Given the description of an element on the screen output the (x, y) to click on. 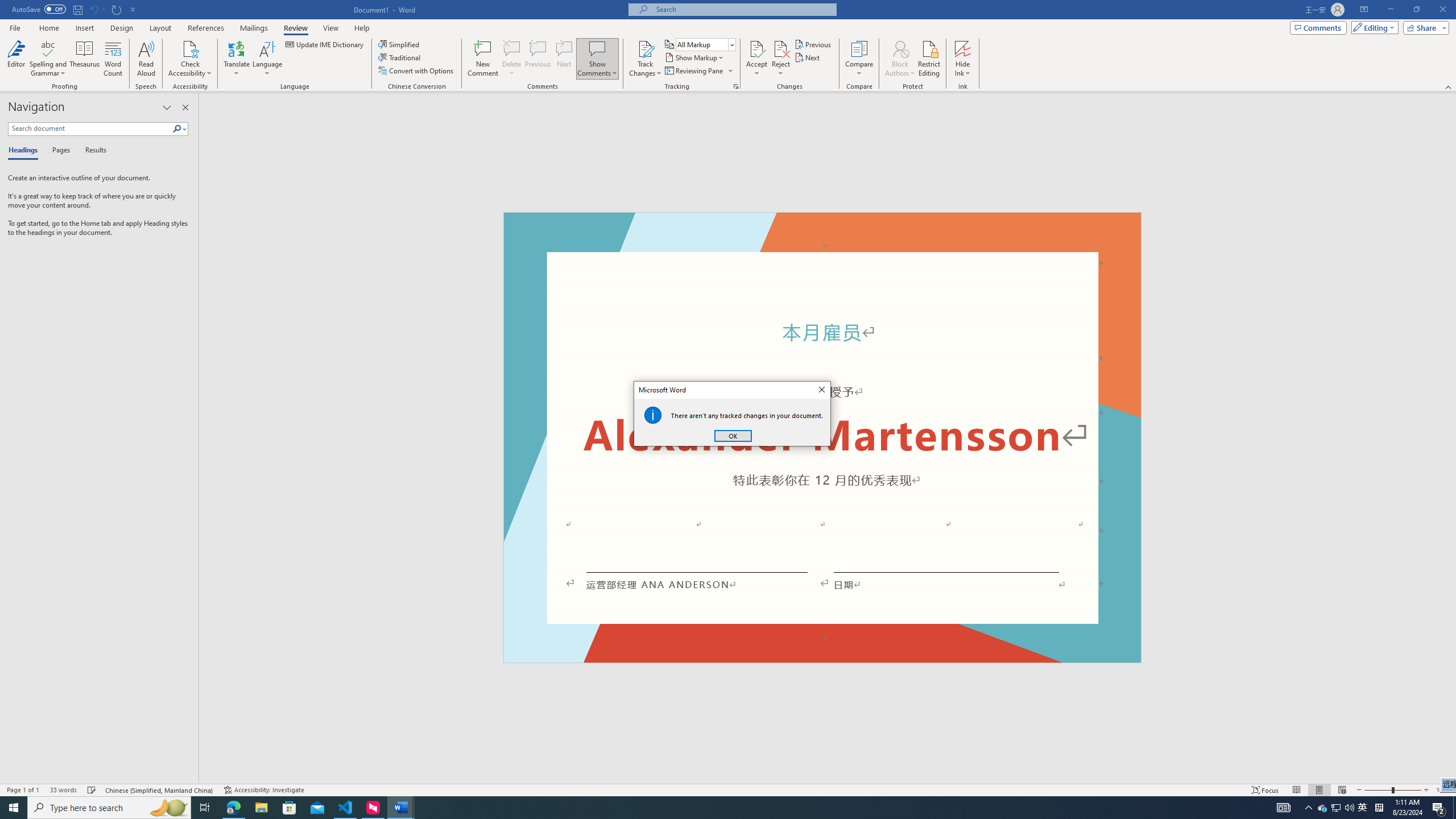
Task View (204, 807)
Zoom In (1426, 790)
Design (122, 28)
Search document (1335, 807)
Start (89, 128)
Collapse the Ribbon (13, 807)
Review (1448, 86)
Open (295, 28)
Tray Input Indicator - Chinese (Simplified, China) (731, 44)
Reject (1378, 807)
Print Layout (780, 58)
